Given the description of an element on the screen output the (x, y) to click on. 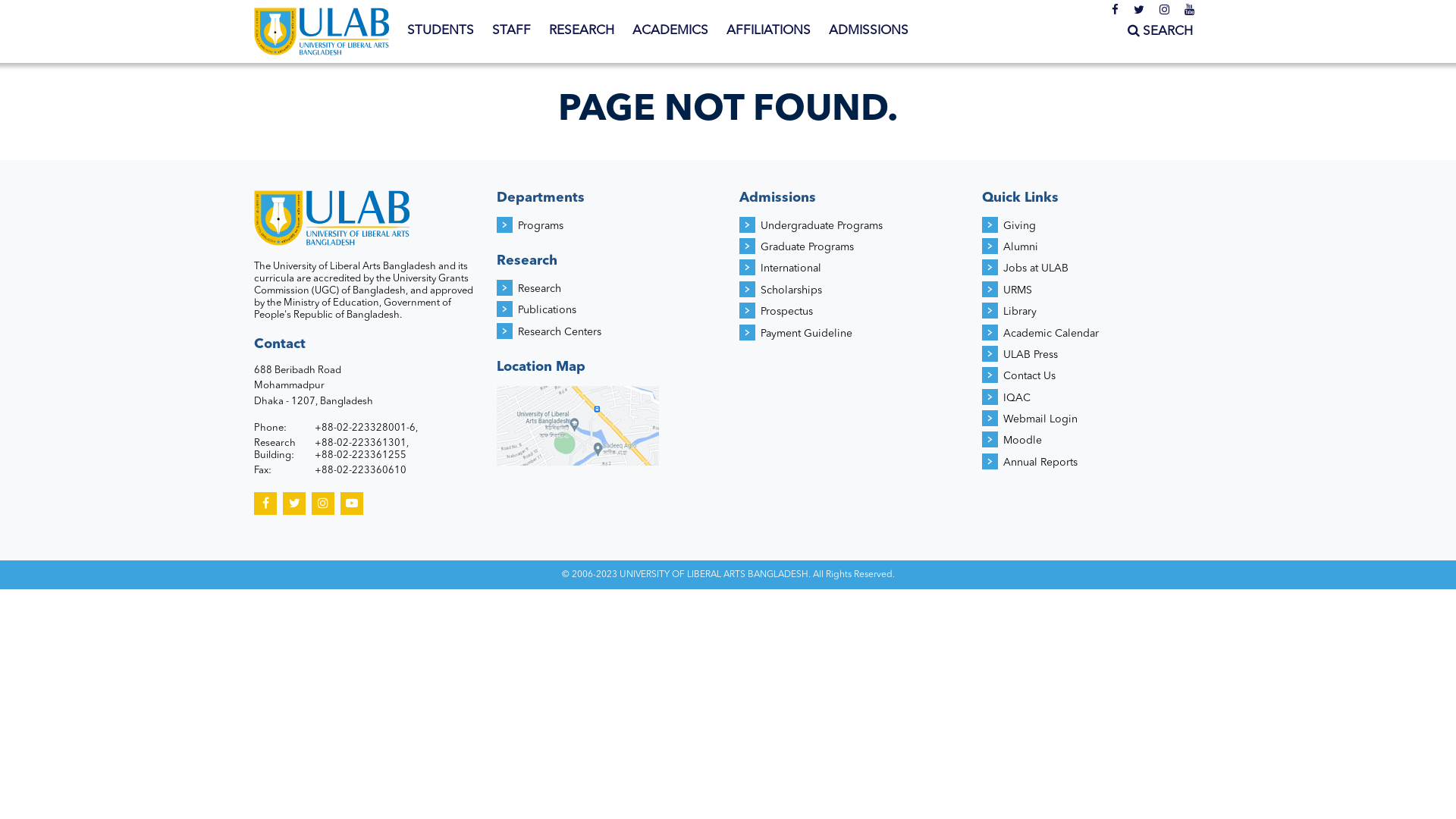
Programs Element type: text (540, 225)
SEARCH Element type: text (1159, 31)
STAFF Element type: text (511, 30)
Webmail Login Element type: text (1040, 419)
IQAC Element type: text (1016, 397)
Scholarships Element type: text (791, 290)
Prospectus Element type: text (786, 311)
Payment Guideline Element type: text (806, 333)
Giving Element type: text (1019, 225)
ACADEMICS Element type: text (670, 30)
STUDENTS Element type: text (440, 30)
Contact Us Element type: text (1029, 375)
Alumni Element type: text (1020, 246)
Graduate Programs Element type: text (806, 246)
Undergraduate Programs Element type: text (821, 225)
URMS Element type: text (1017, 290)
Skip to main content Element type: text (61, 0)
Research Element type: text (539, 288)
Jobs at ULAB Element type: text (1035, 268)
Academic Calendar Element type: text (1050, 333)
RESEARCH Element type: text (581, 30)
International Element type: text (790, 268)
Research Centers Element type: text (559, 331)
ULAB Press Element type: text (1030, 354)
Publications Element type: text (546, 309)
Moodle Element type: text (1022, 440)
Library Element type: text (1019, 311)
Annual Reports Element type: text (1040, 462)
ADMISSIONS Element type: text (868, 30)
AFFILIATIONS Element type: text (768, 30)
